Given the description of an element on the screen output the (x, y) to click on. 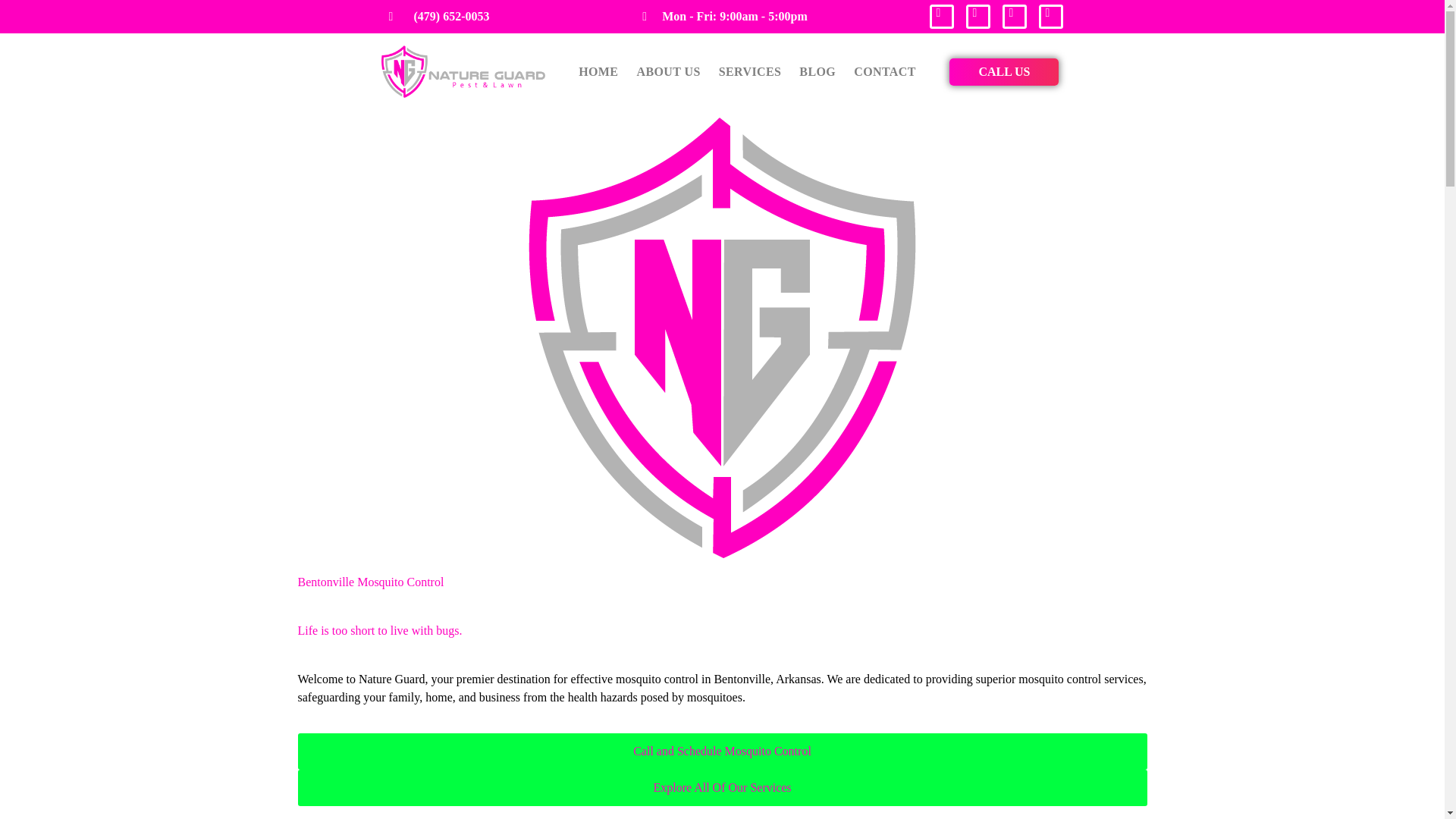
HOME (597, 71)
ABOUT US (668, 71)
CONTACT (884, 71)
SERVICES (750, 71)
BLOG (817, 71)
